Given the description of an element on the screen output the (x, y) to click on. 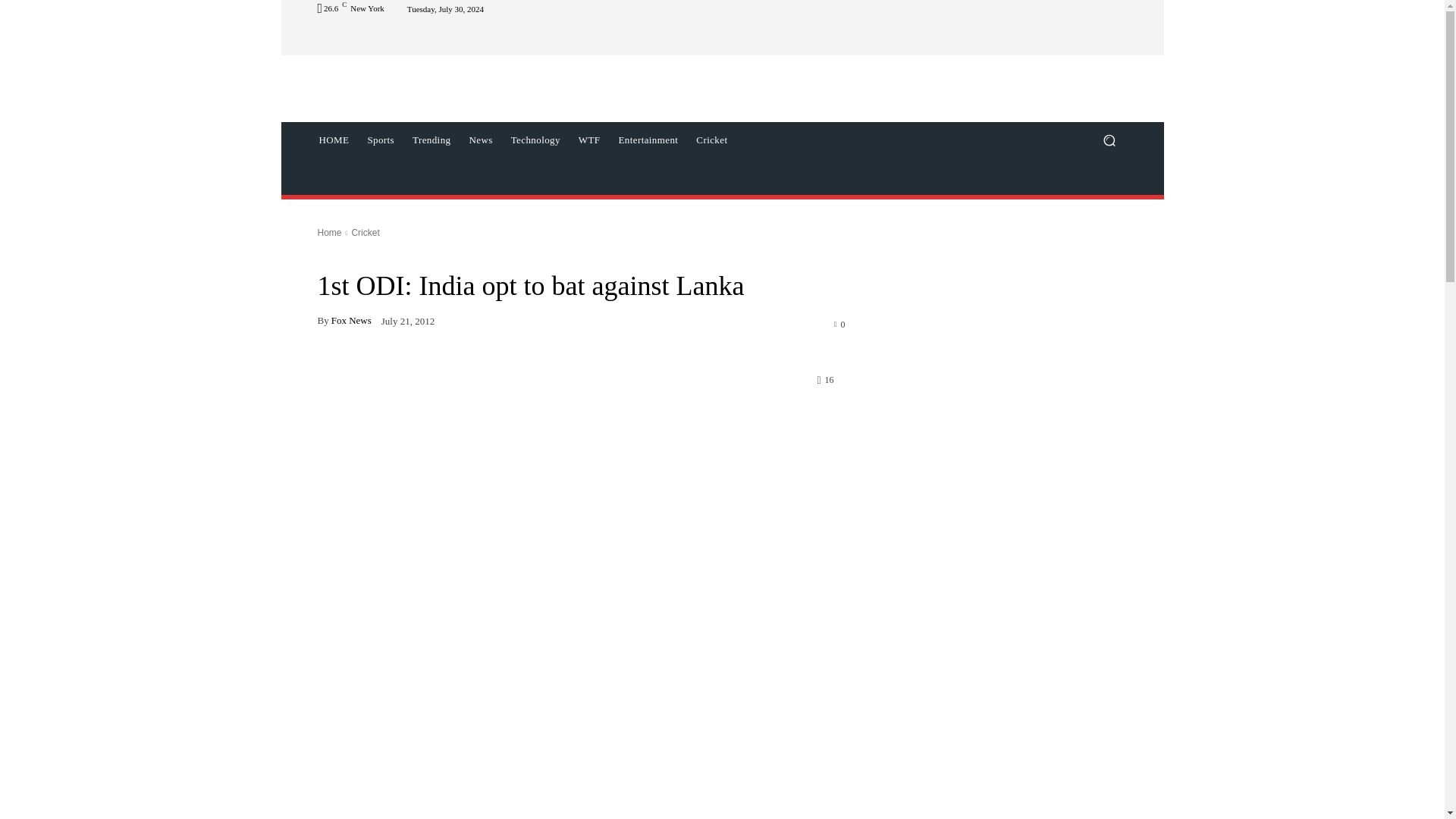
HOME (333, 140)
Technology (535, 140)
News (480, 140)
Cricket (364, 232)
Fox News (351, 320)
Home (328, 232)
Sports (380, 140)
Cricket (711, 140)
Entertainment (648, 140)
View all posts in Cricket (364, 232)
WTF (589, 140)
0 (839, 323)
Trending (431, 140)
